Given the description of an element on the screen output the (x, y) to click on. 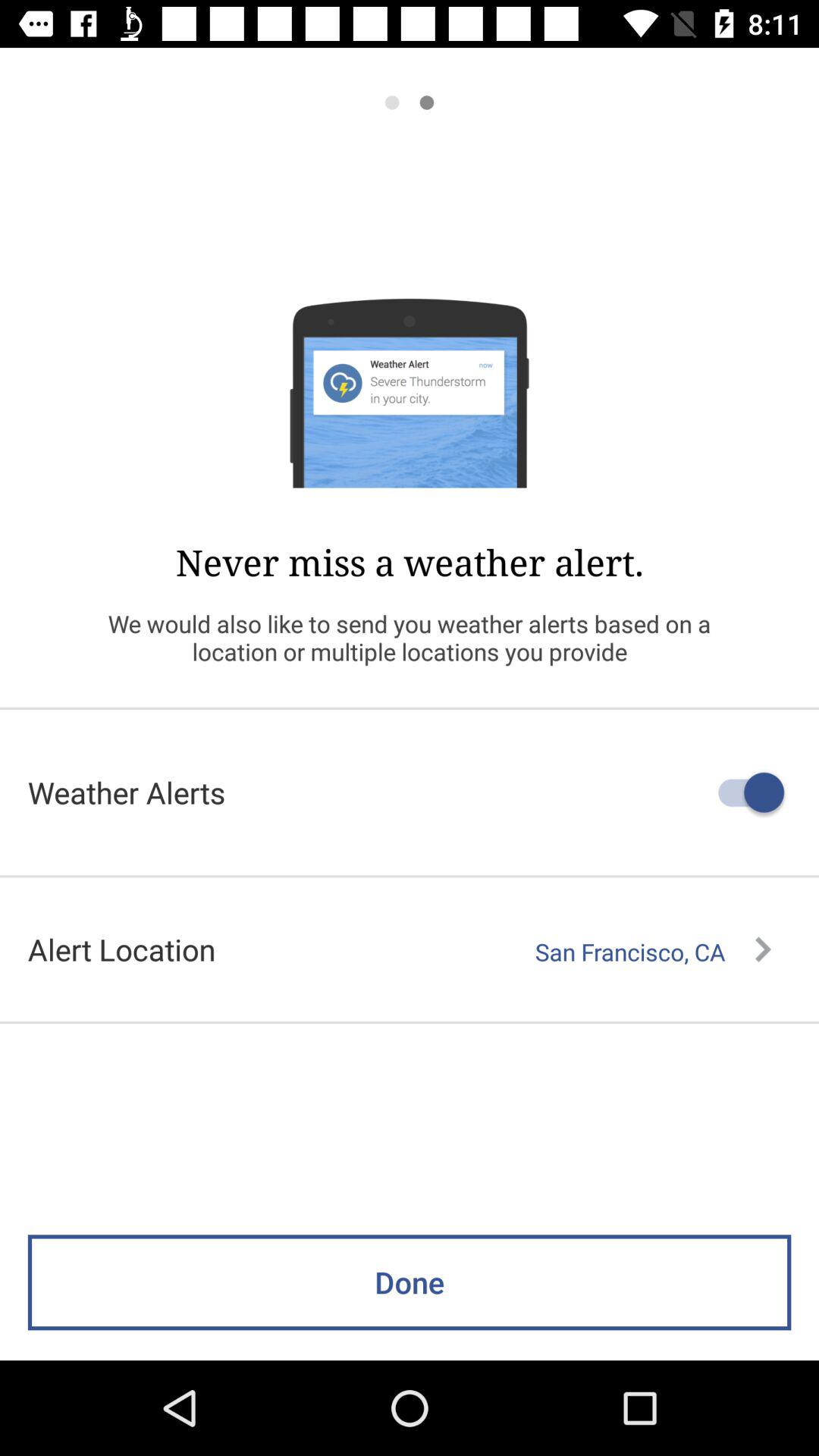
open san francisco, ca (653, 951)
